Given the description of an element on the screen output the (x, y) to click on. 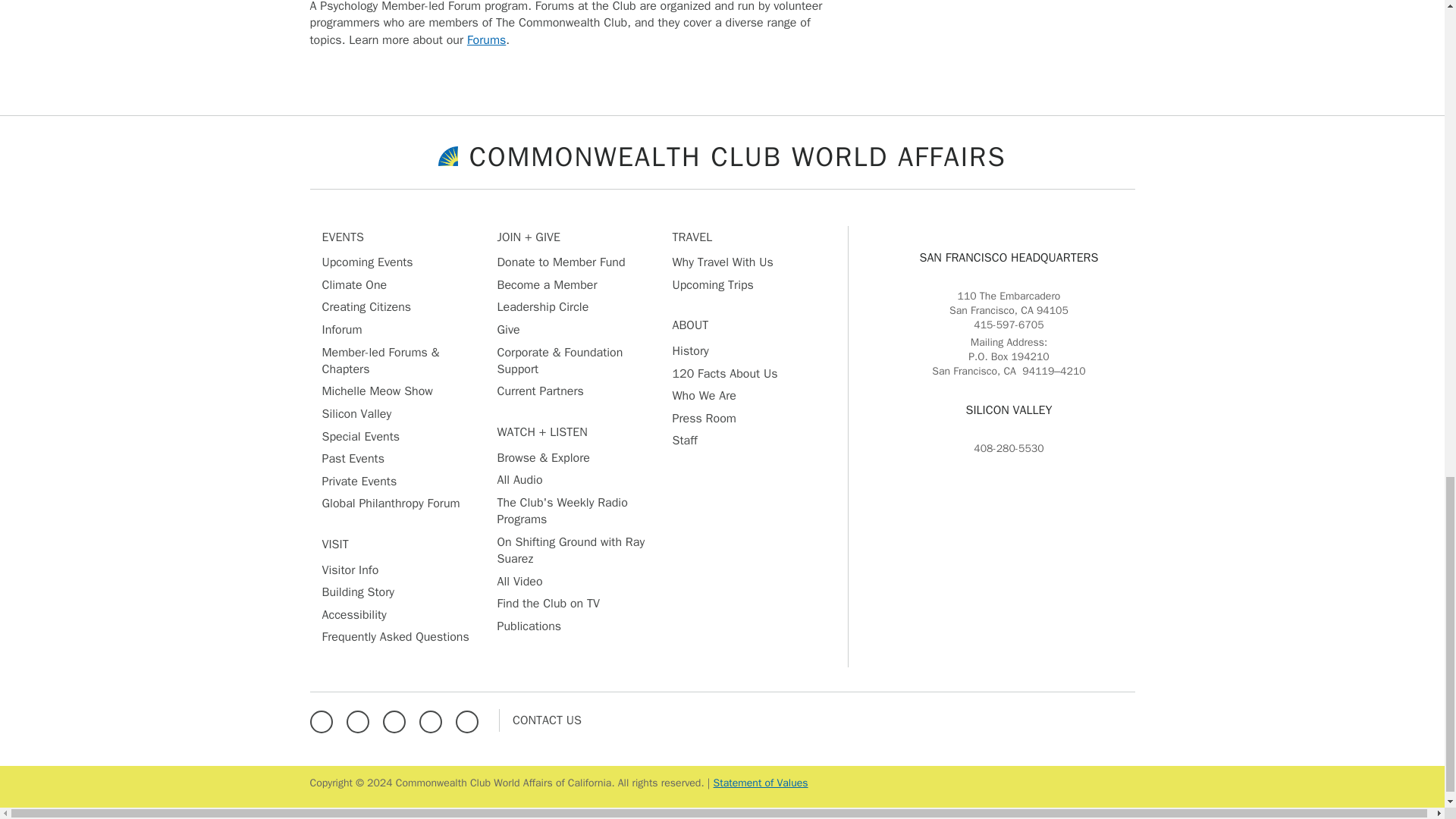
Instagram (397, 719)
Linkedin (434, 719)
Facebook (323, 719)
X (361, 719)
YouTube (470, 719)
Member and Guest Policy (760, 782)
